Given the description of an element on the screen output the (x, y) to click on. 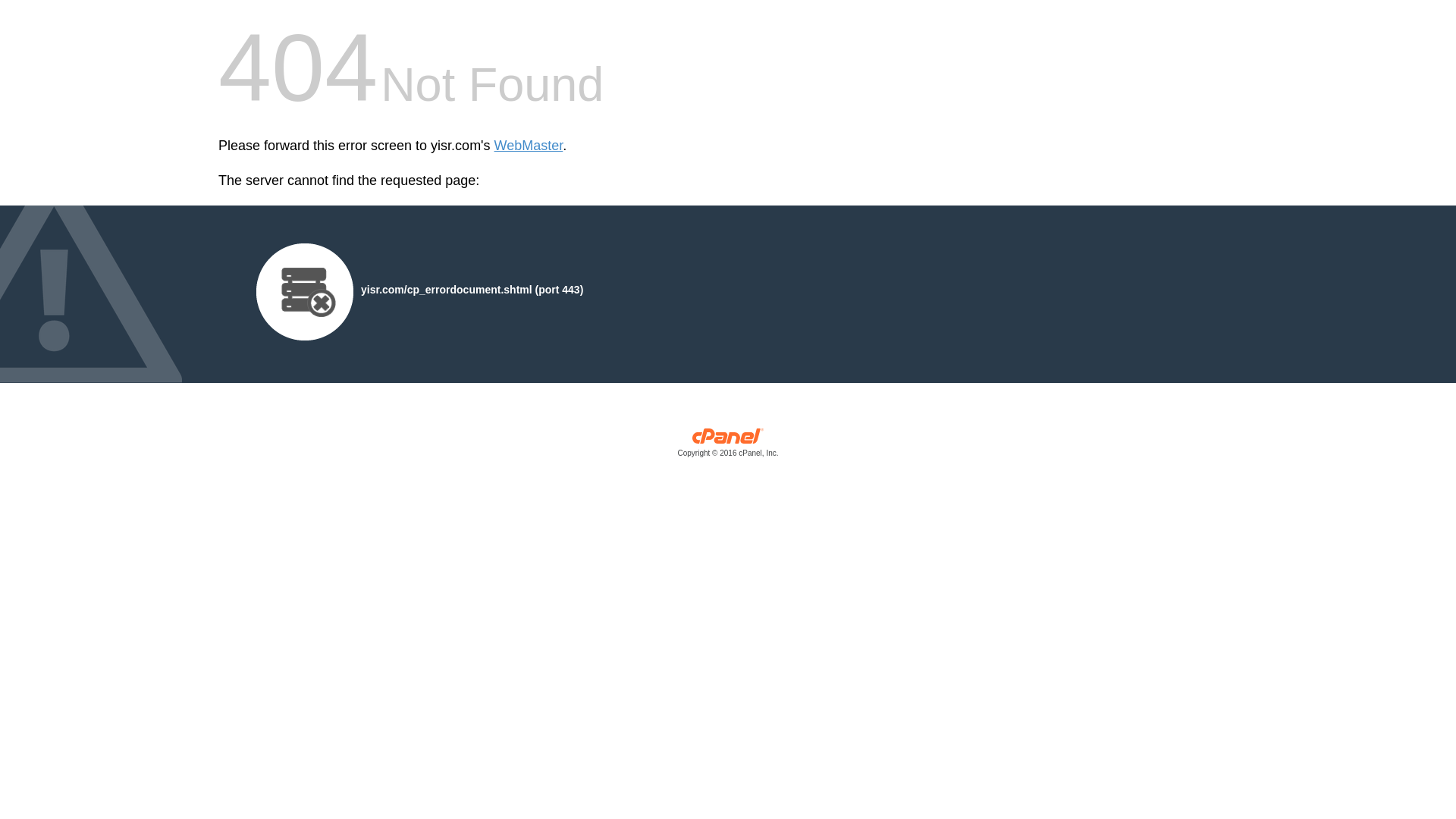
WebMaster (529, 145)
cPanel, Inc. (727, 446)
